Given the description of an element on the screen output the (x, y) to click on. 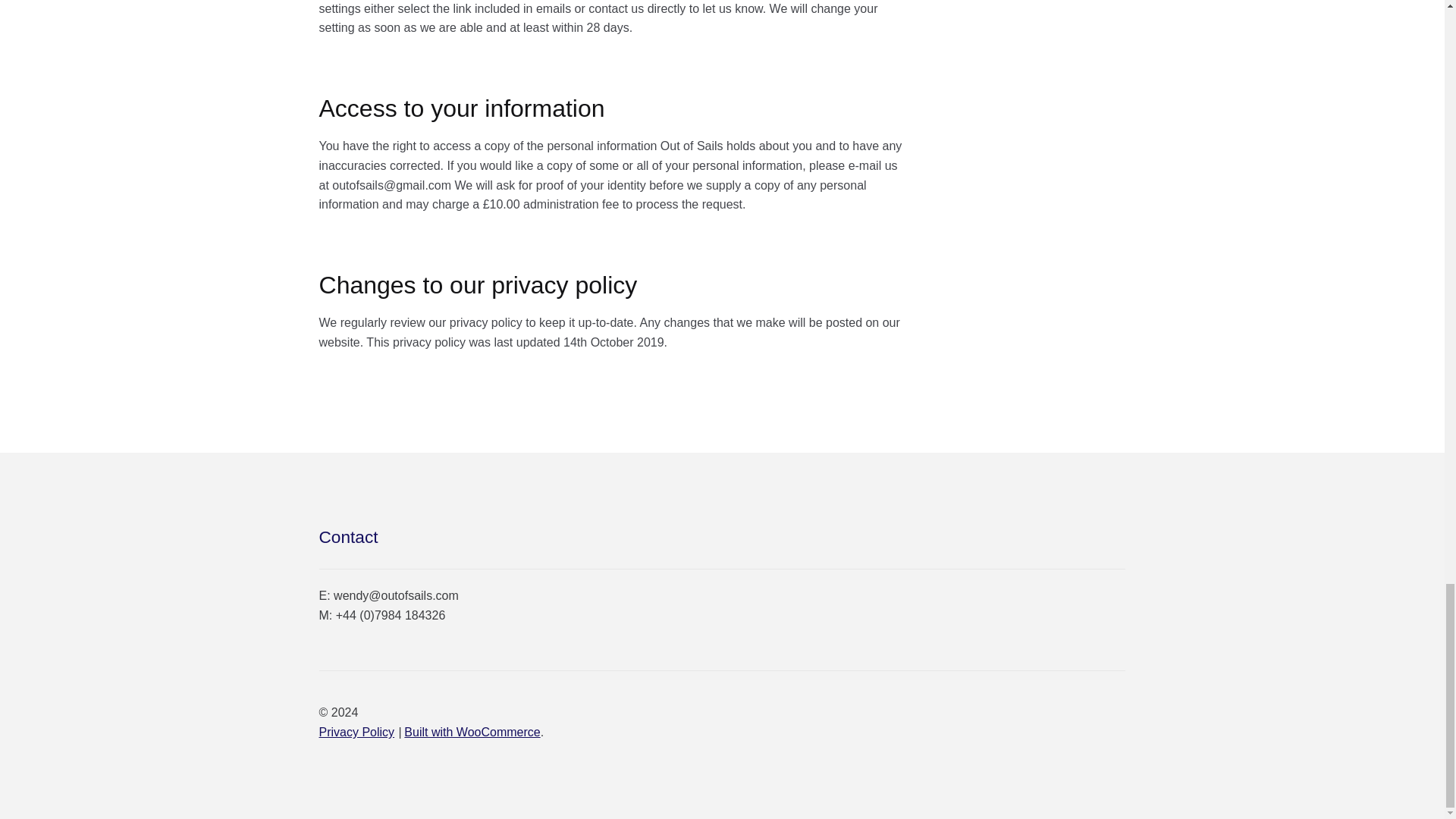
WooCommerce - The Best eCommerce Platform for WordPress (472, 731)
Privacy Policy (356, 731)
Built with WooCommerce (472, 731)
